Given the description of an element on the screen output the (x, y) to click on. 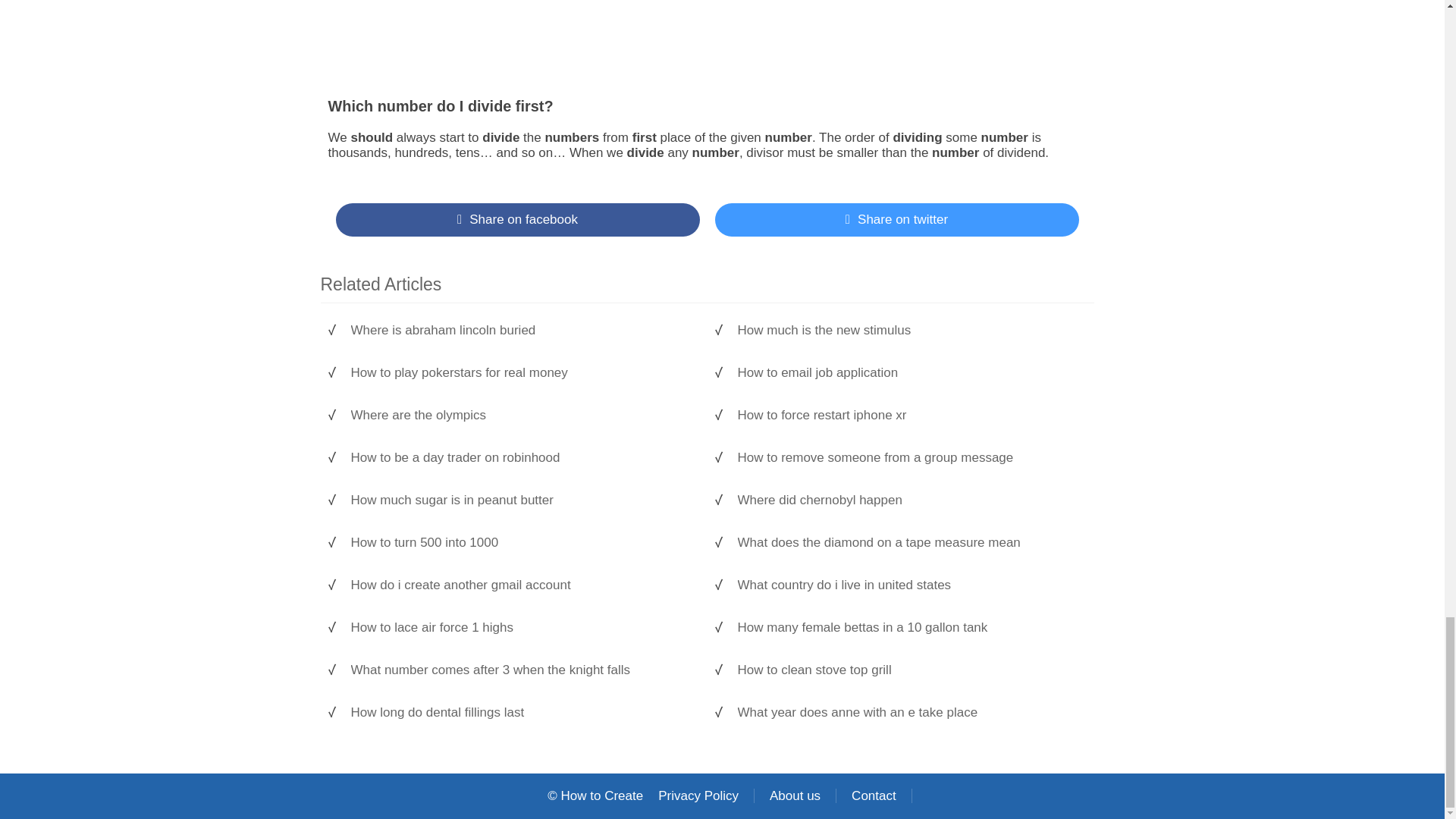
Where did chernobyl happen (907, 500)
What does the diamond on a tape measure mean (907, 542)
Where are the olympics (520, 415)
Share on Facebook (516, 219)
How much is the new stimulus (907, 330)
Contact (873, 795)
How to remove someone from a group message (907, 458)
Dividing numbers (526, 39)
How much is the new stimulus (907, 330)
How to force restart iphone xr (907, 415)
